Given the description of an element on the screen output the (x, y) to click on. 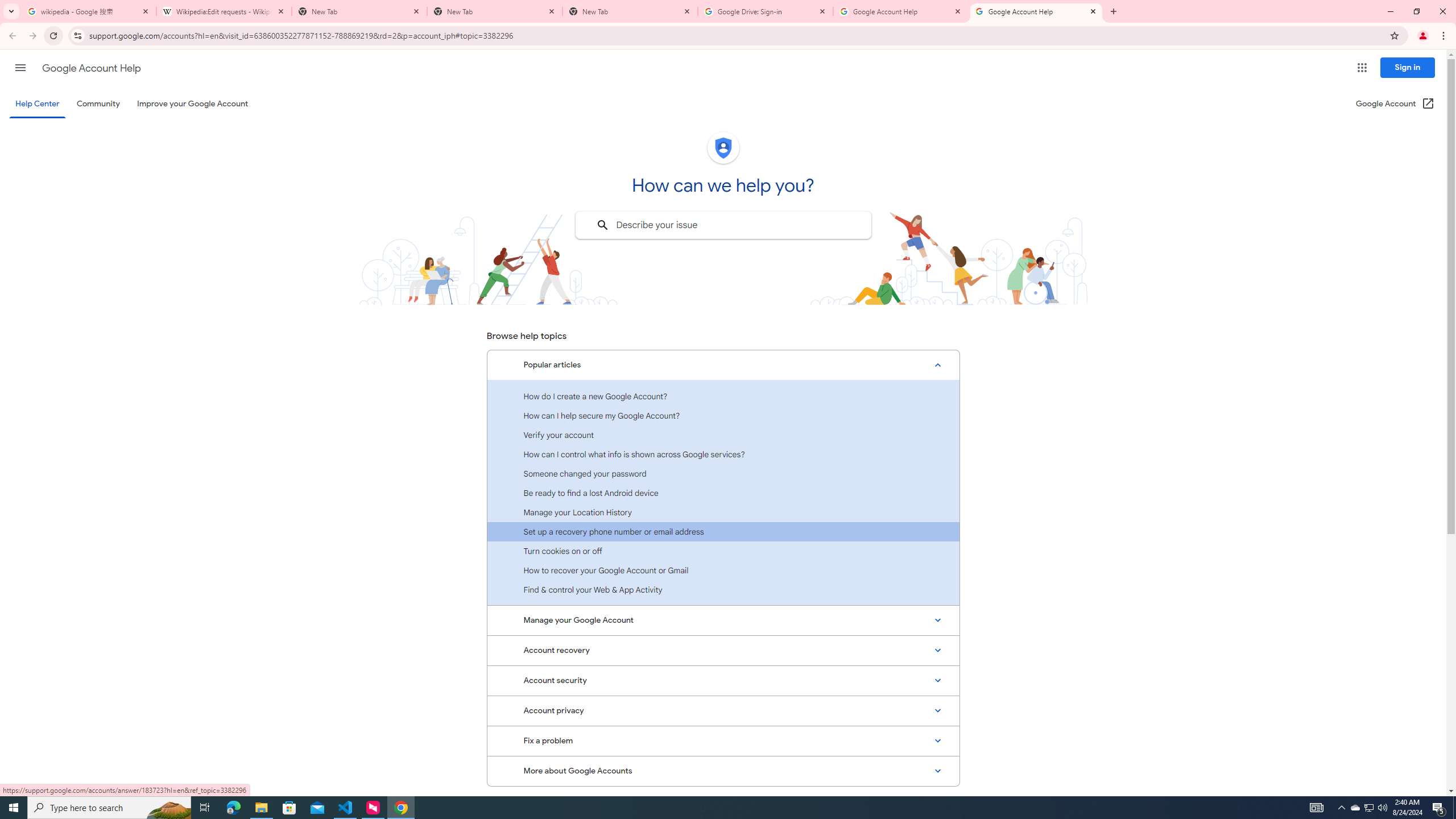
Help Center (36, 103)
Verify your account (722, 434)
Google Account Help (1036, 11)
How can I help secure my Google Account? (722, 415)
How can I control what info is shown across Google services? (722, 454)
Someone changed your password (722, 473)
Manage your Location History (722, 512)
Community (97, 103)
Describe your issue to find information that might help you. (722, 225)
